Given the description of an element on the screen output the (x, y) to click on. 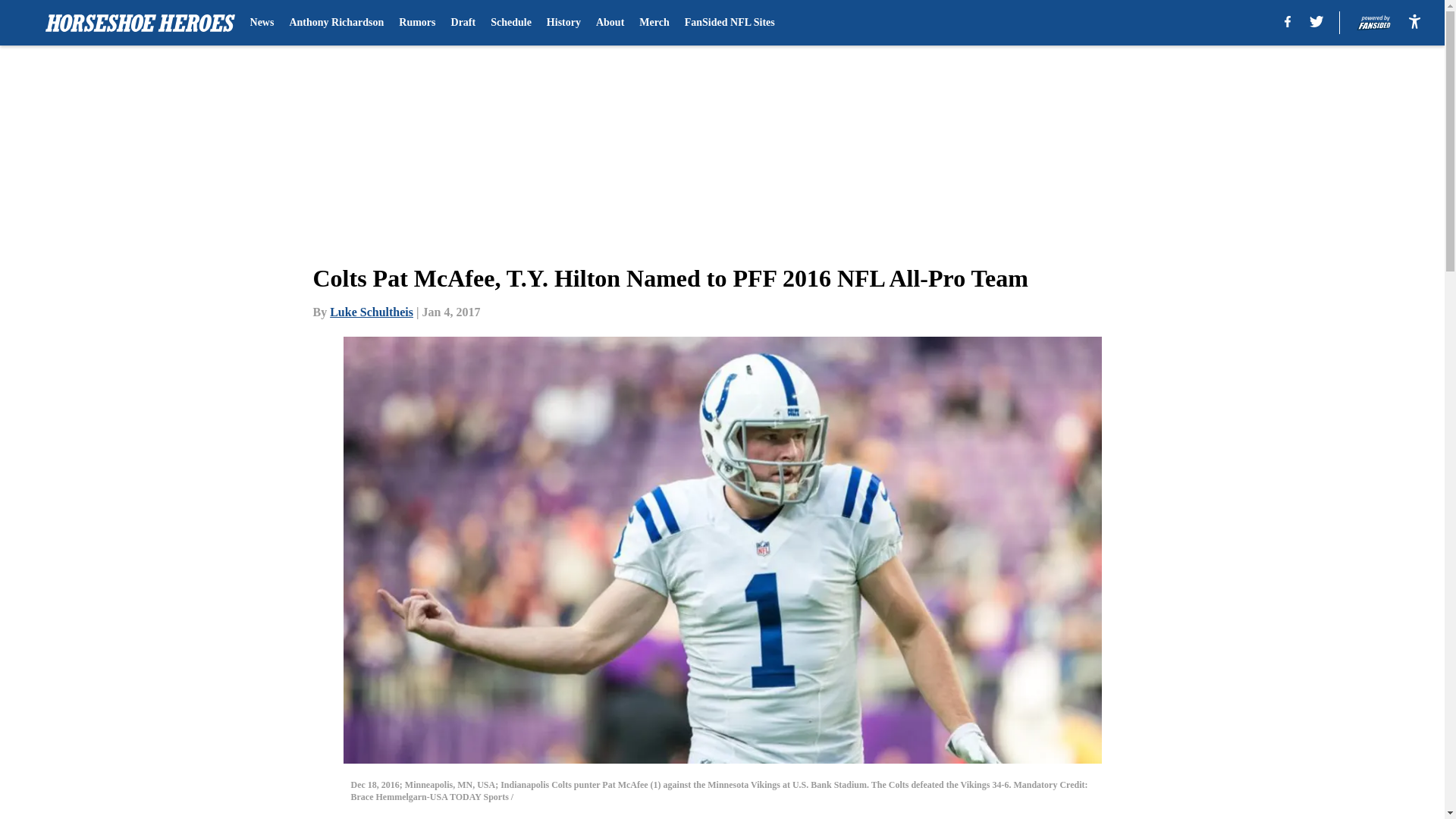
Anthony Richardson (336, 22)
About (609, 22)
News (262, 22)
Merch (653, 22)
FanSided NFL Sites (729, 22)
Luke Schultheis (371, 311)
History (563, 22)
Rumors (416, 22)
Draft (463, 22)
Schedule (510, 22)
